Given the description of an element on the screen output the (x, y) to click on. 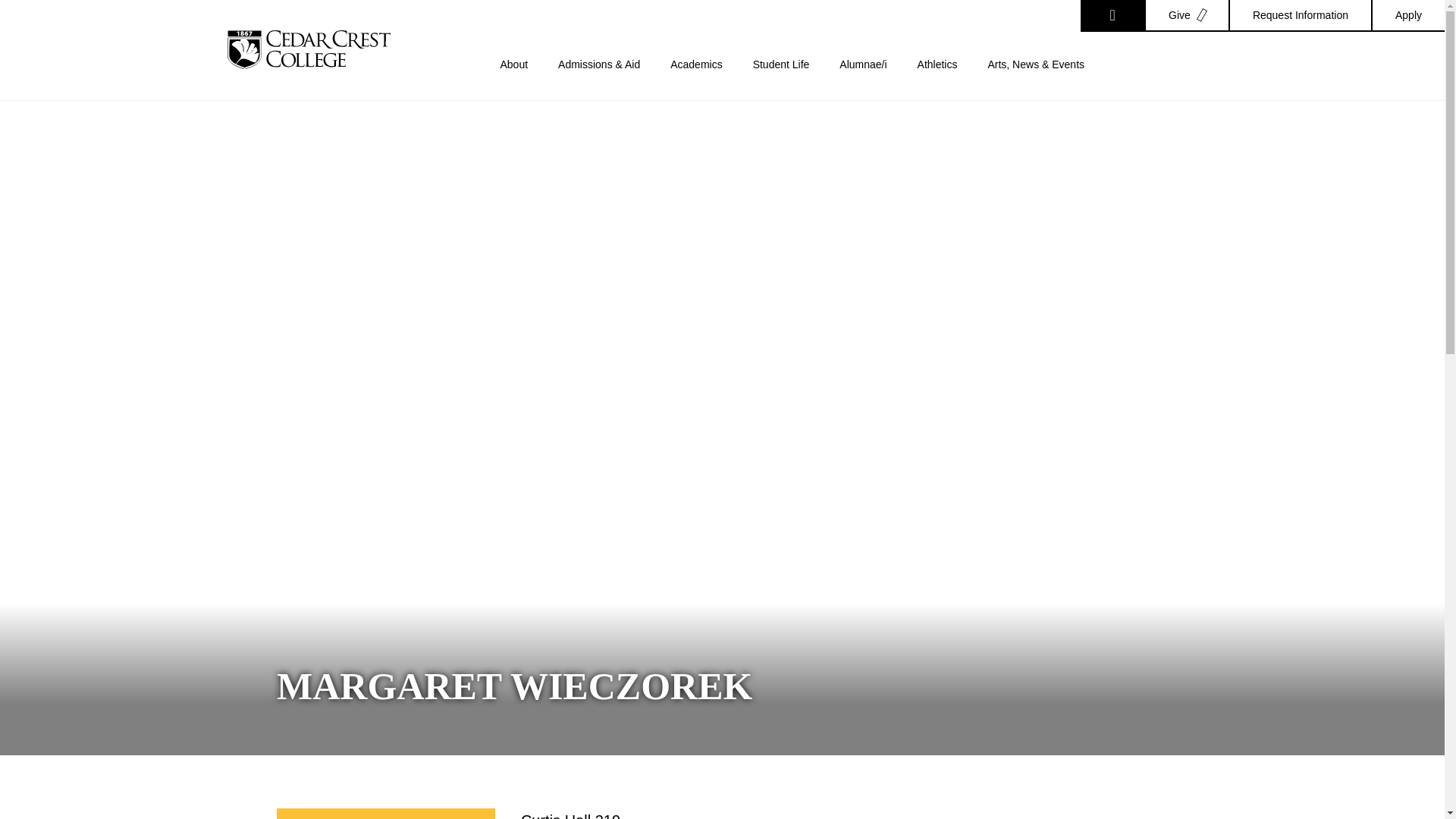
About (513, 78)
Search (1112, 15)
Academics (695, 78)
Cedar Crest College (308, 49)
